Given the description of an element on the screen output the (x, y) to click on. 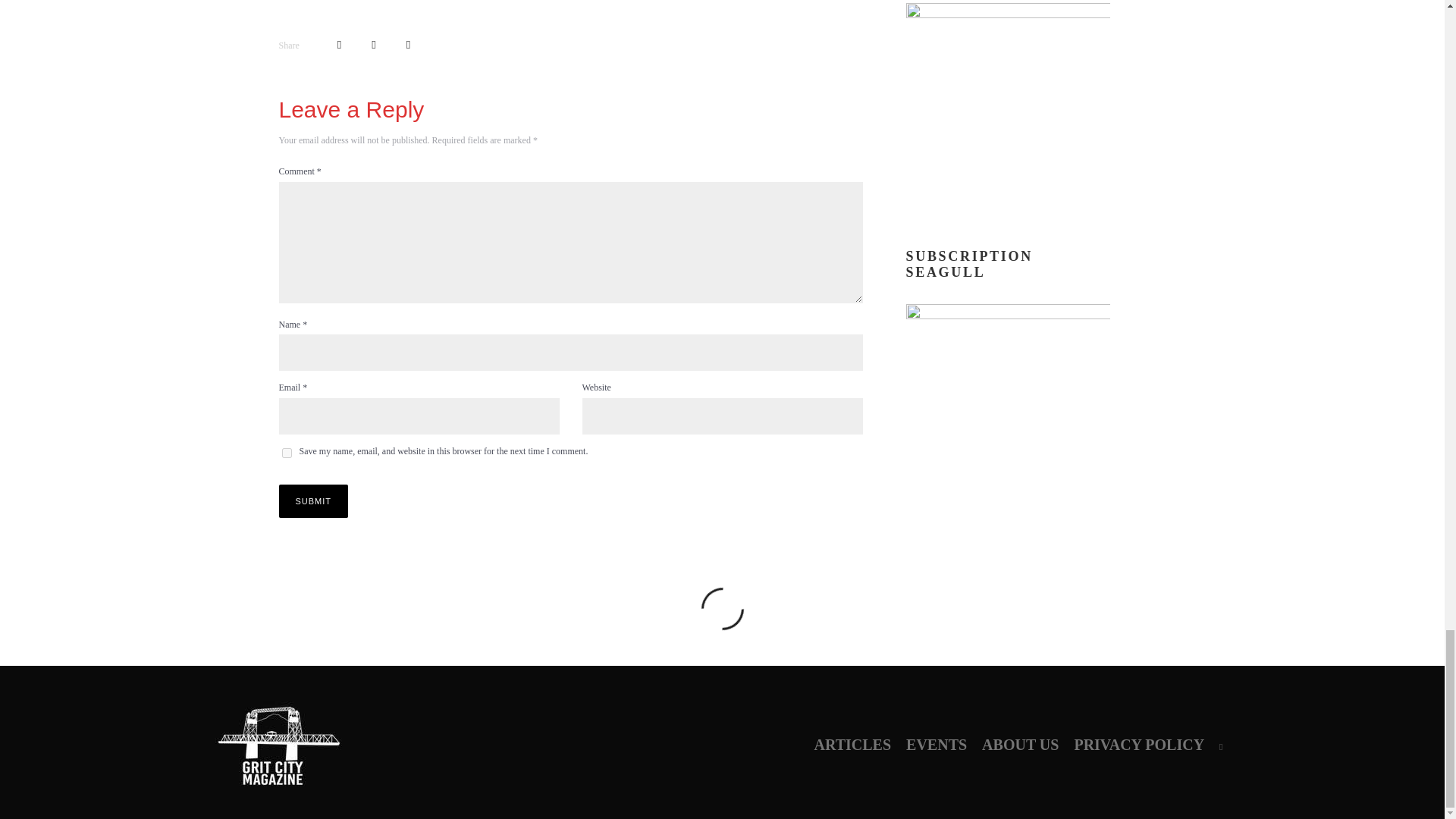
yes (287, 452)
Submit (314, 500)
